Given the description of an element on the screen output the (x, y) to click on. 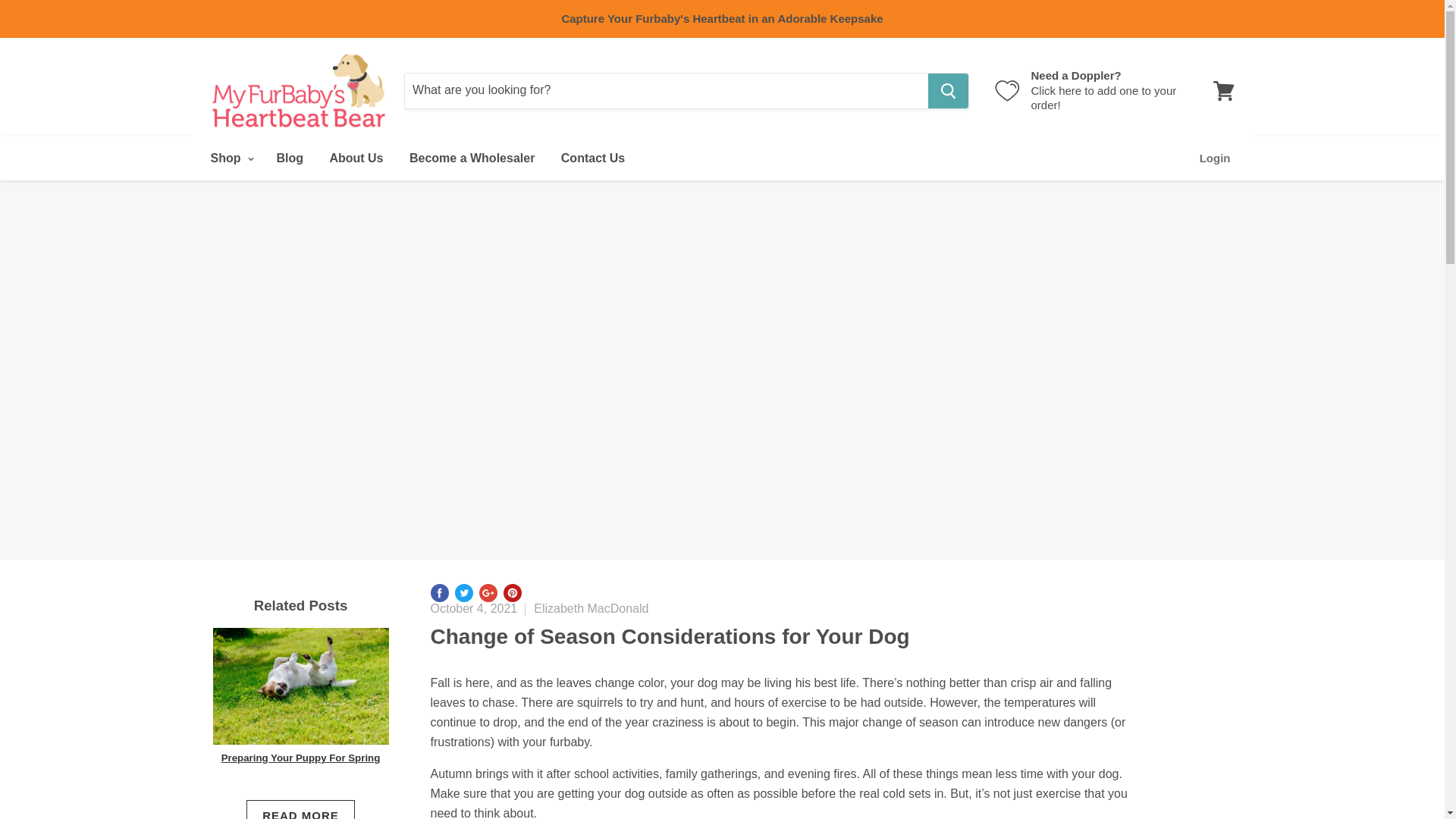
Shop (229, 158)
Become a Wholesaler (1088, 90)
Login (471, 158)
Blog (1215, 158)
About Us (289, 158)
View cart (355, 158)
Preparing Your Puppy For Spring (1223, 89)
Contact Us (300, 757)
READ MORE (593, 158)
